Given the description of an element on the screen output the (x, y) to click on. 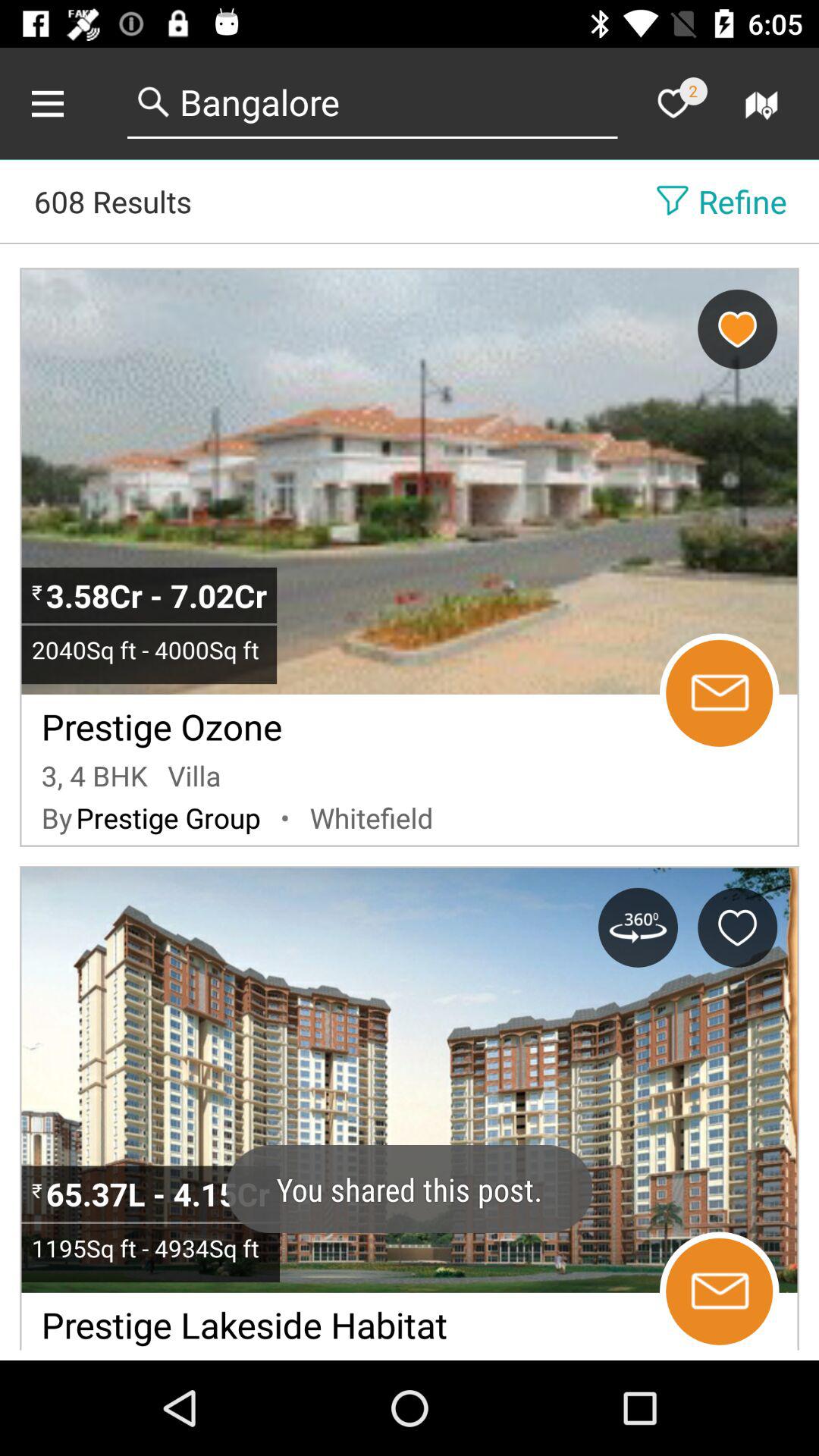
press the 1195sq ft 4934sq (150, 1247)
